Given the description of an element on the screen output the (x, y) to click on. 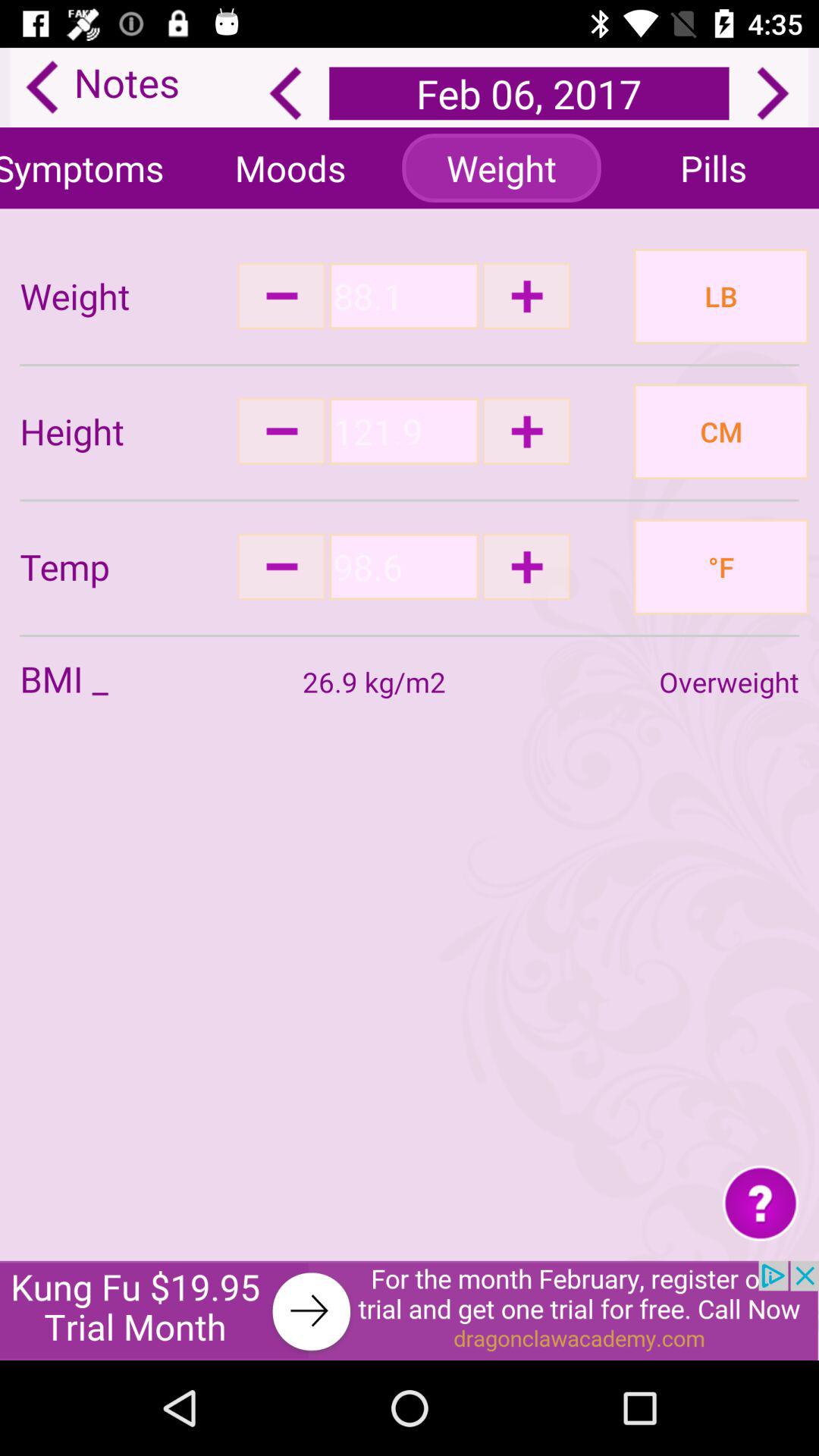
increase the height value (526, 431)
